Given the description of an element on the screen output the (x, y) to click on. 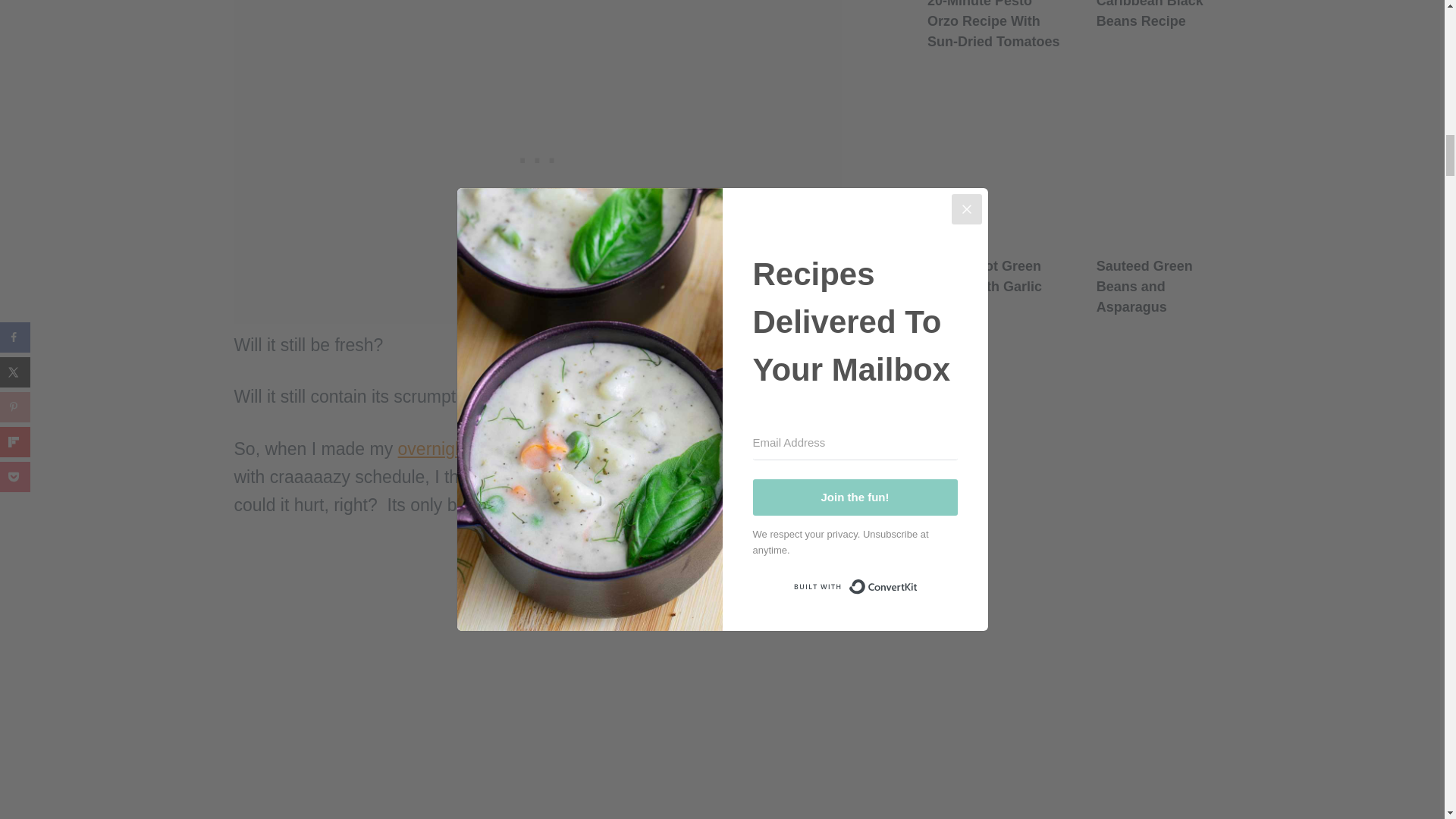
overnight oats (451, 448)
